Given the description of an element on the screen output the (x, y) to click on. 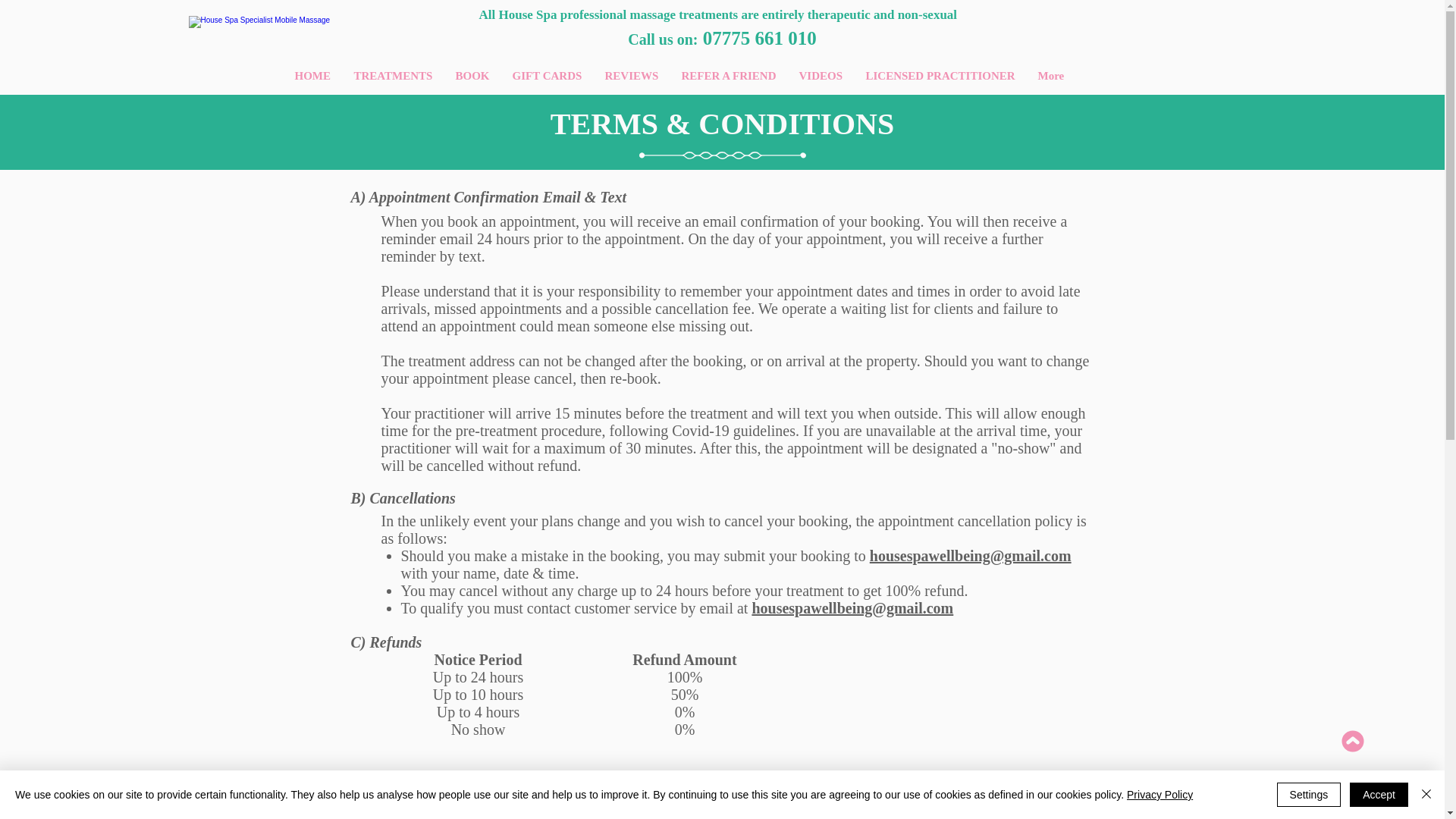
VIDEOS (820, 75)
REFER A FRIEND (728, 75)
BOOK (472, 75)
REVIEWS (630, 75)
HOME (312, 75)
GIFT CARDS (546, 75)
LICENSED PRACTITIONER (939, 75)
